Given the description of an element on the screen output the (x, y) to click on. 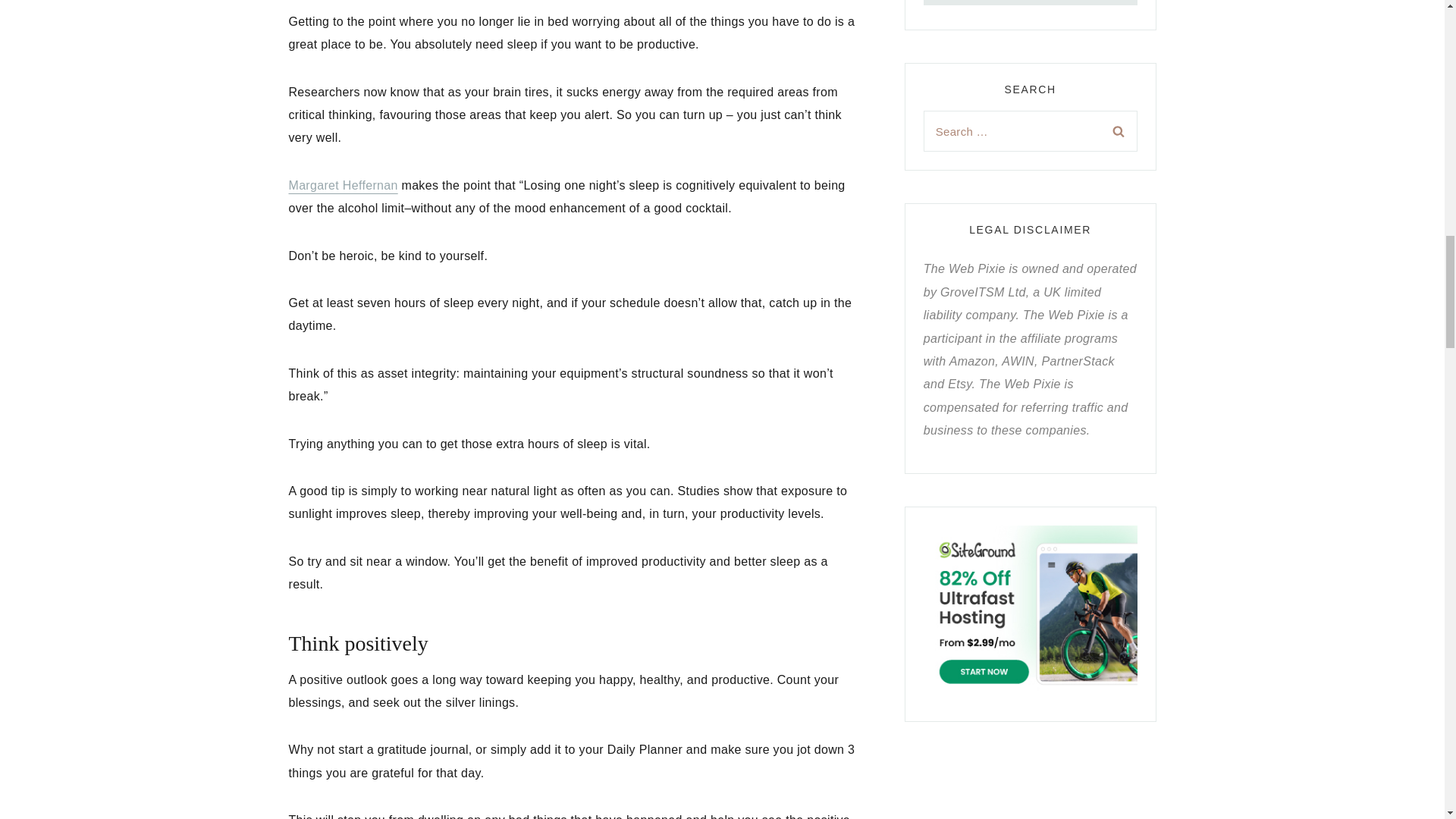
Search (1118, 131)
Margaret Heffernan (342, 185)
Search (1118, 131)
